Given the description of an element on the screen output the (x, y) to click on. 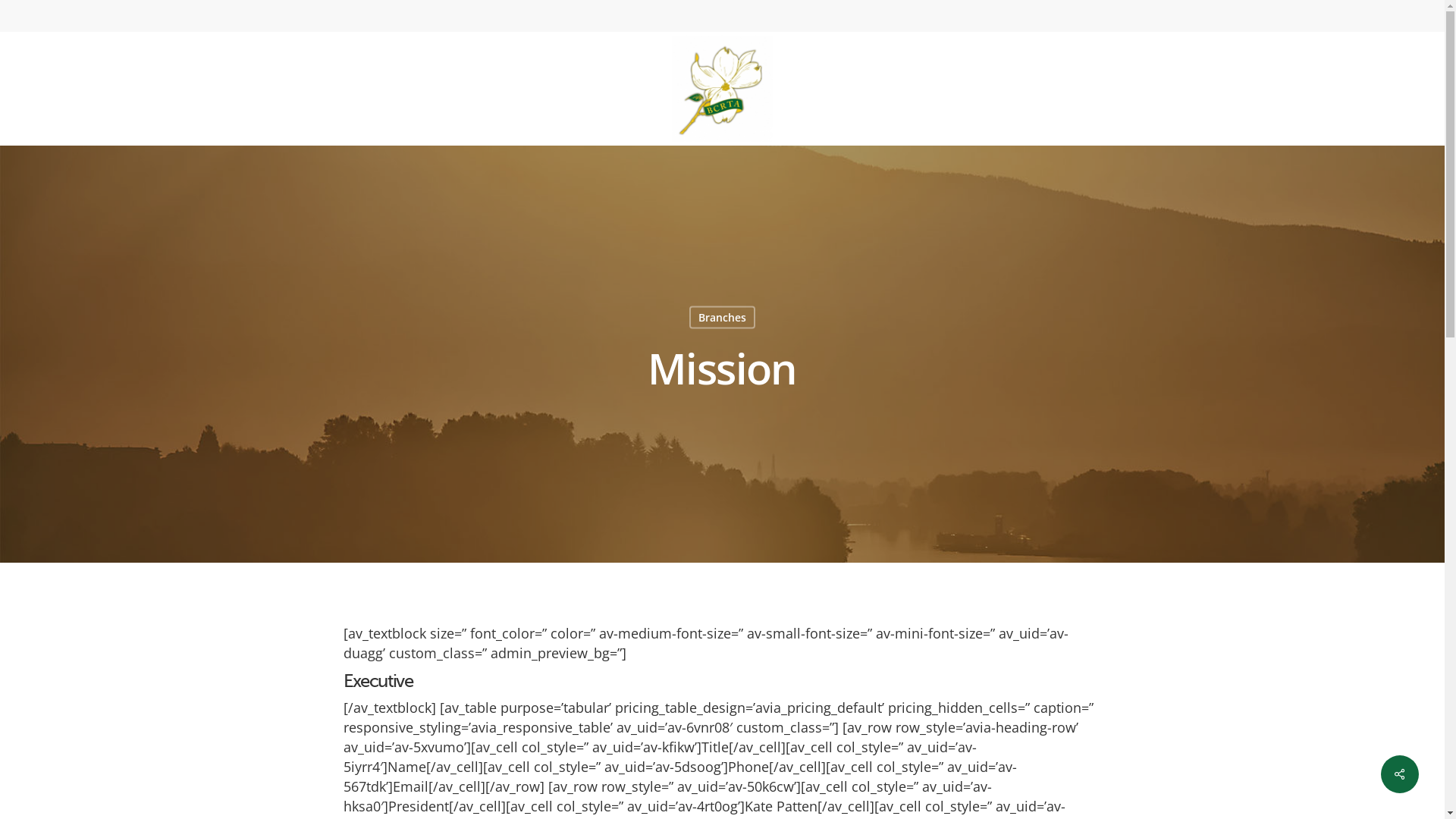
Frequently Asked Questions Element type: text (690, 512)
News Element type: text (898, 435)
About Us Element type: text (690, 460)
twitter Element type: text (1105, 793)
Join Element type: text (690, 435)
Publications Element type: text (898, 460)
Golden Star Awards Element type: text (898, 564)
email Element type: text (1186, 793)
Privacy Policy Element type: text (690, 564)
Branches Element type: text (721, 317)
RETIREMENT WORKSHOP FOR TEACHERS Element type: text (1103, 541)
Update My Member Info Element type: text (690, 538)
phone Element type: text (1157, 793)
Extended Health Care Survey Element type: text (898, 538)
facebook Element type: text (1132, 793)
Living Well in Retirement Element type: text (898, 512)
